Given the description of an element on the screen output the (x, y) to click on. 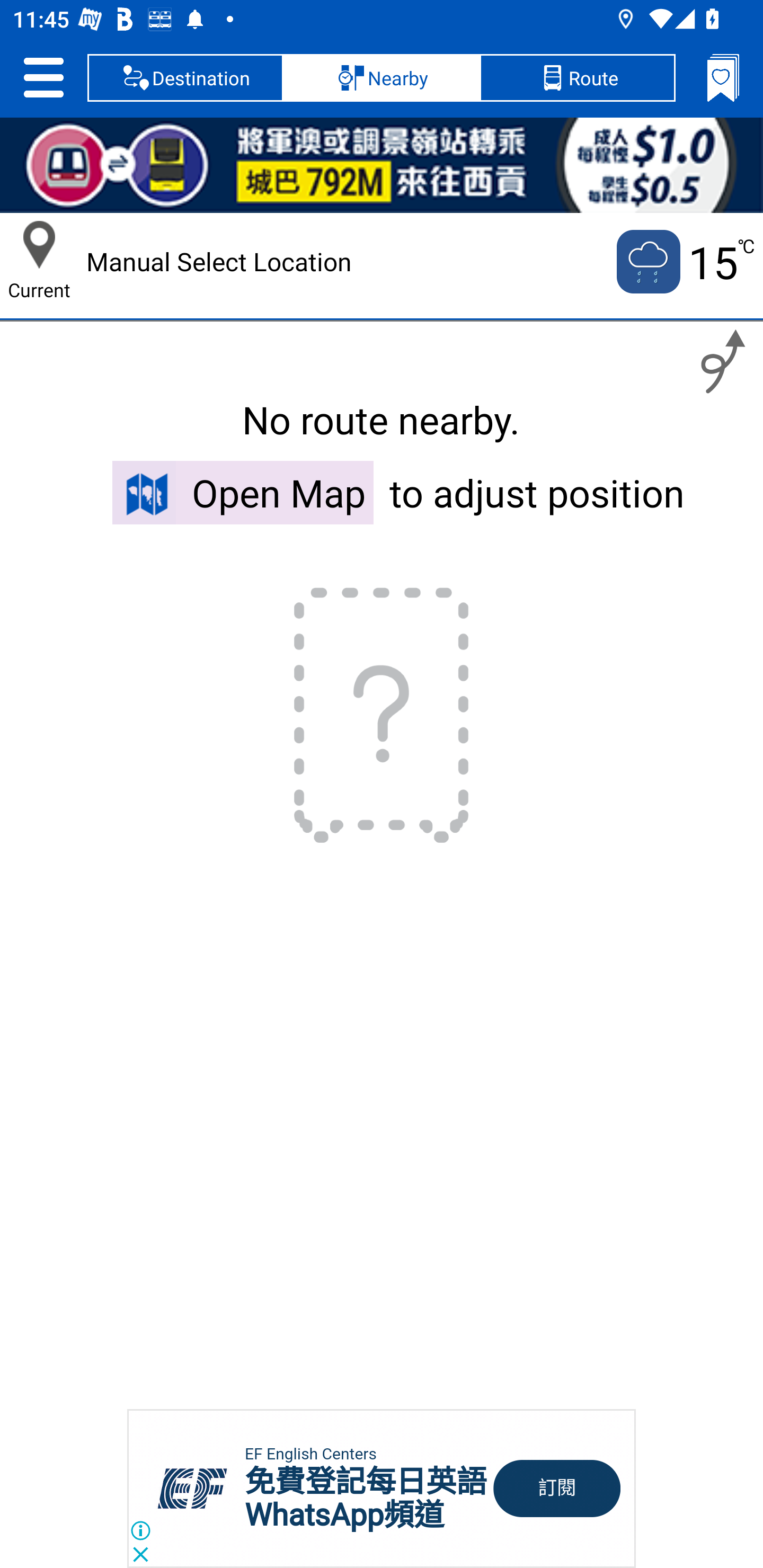
Destination (185, 77)
Nearby, selected (381, 77)
Route (577, 77)
Bookmarks (723, 77)
Setting (43, 77)
792M BRI (381, 165)
Current Location (38, 244)
Current temputure is  15  no 15 ℃ (684, 261)
Open Map (242, 491)
EF English Centers (310, 1454)
訂閱 (556, 1488)
免費登記每日英語 WhatsApp頻道 免費登記每日英語 WhatsApp頻道 (365, 1497)
